Given the description of an element on the screen output the (x, y) to click on. 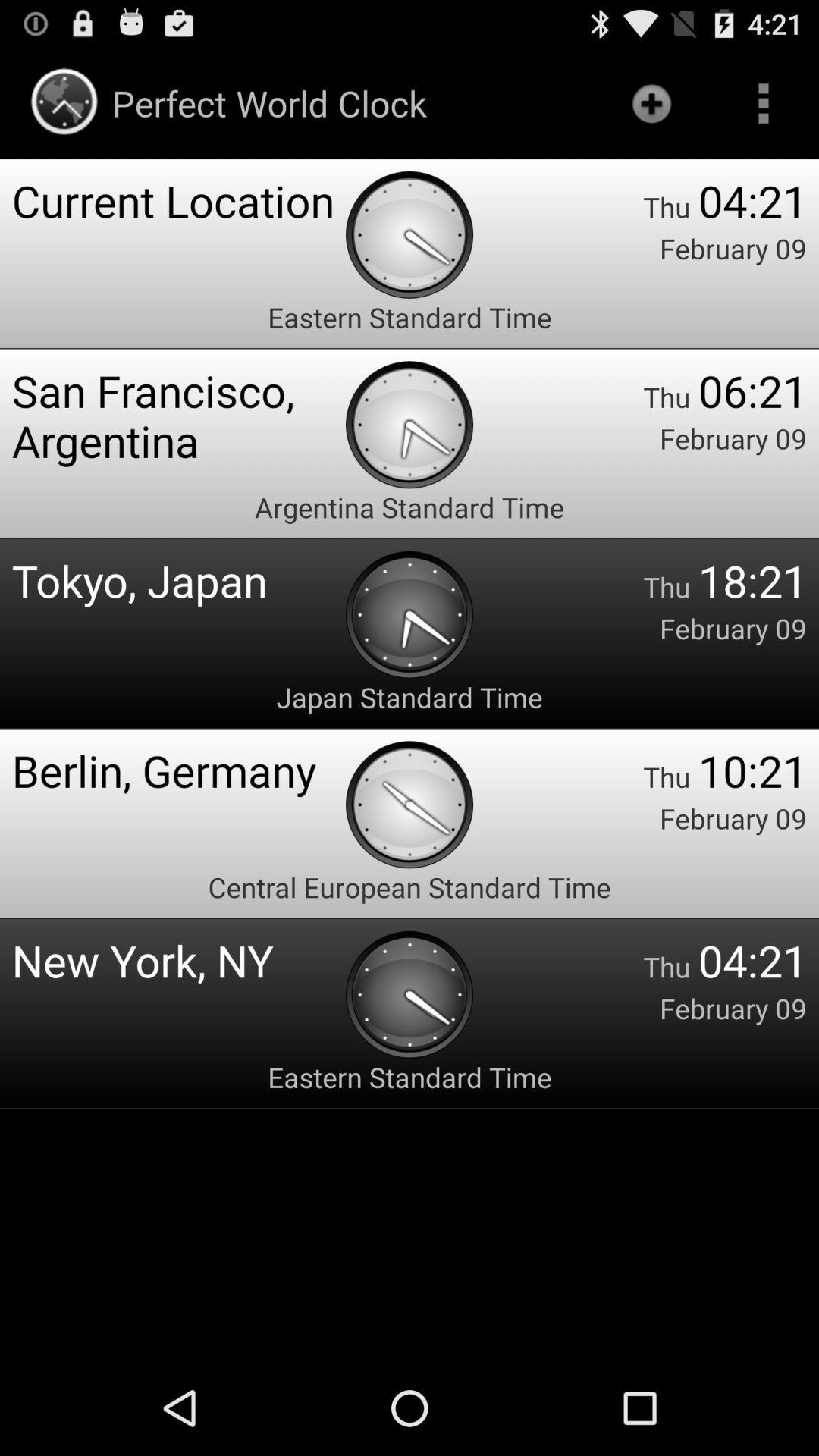
turn on the app above argentina standard time item (178, 415)
